Given the description of an element on the screen output the (x, y) to click on. 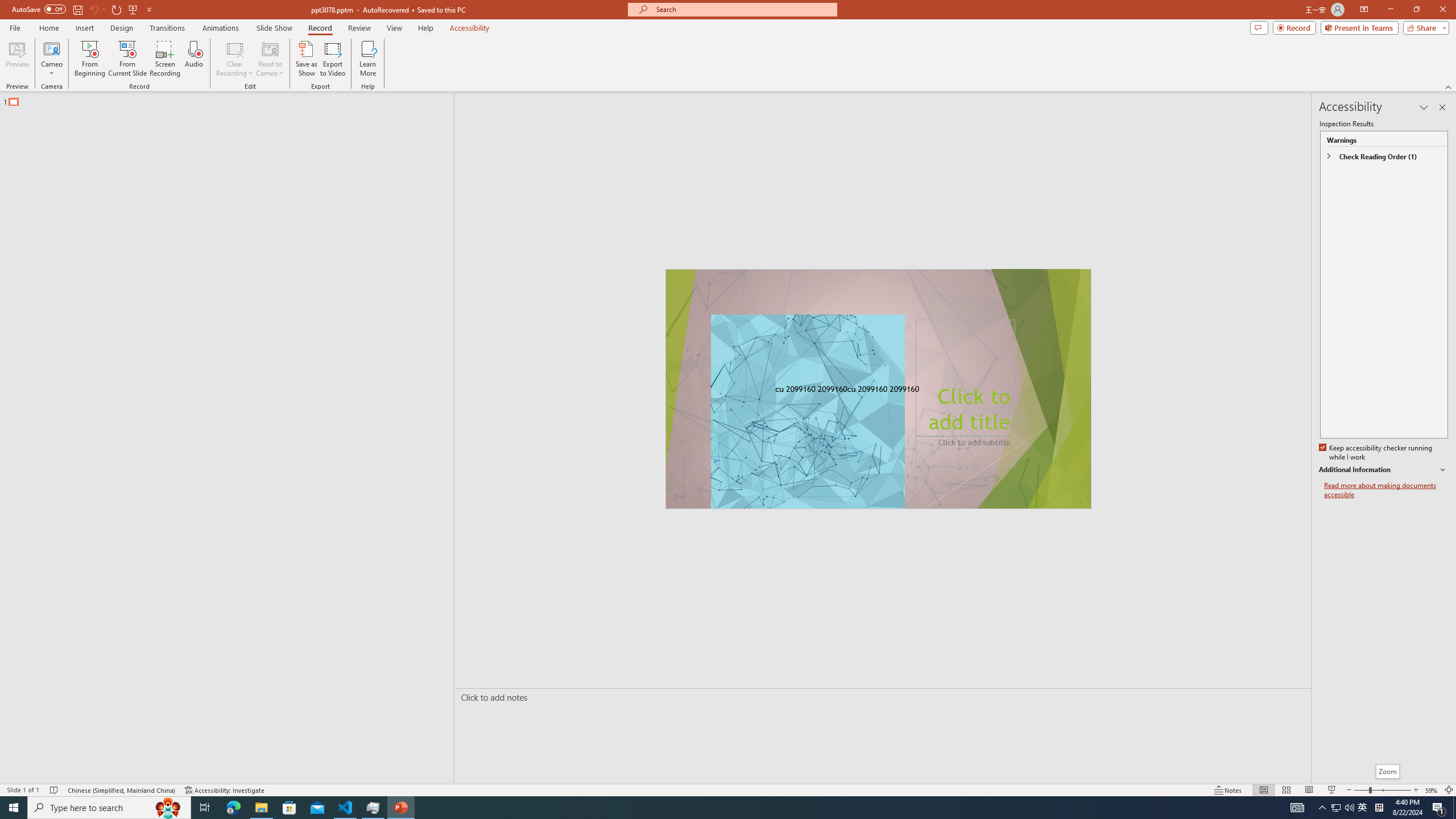
Reset to Cameo (269, 58)
